Given the description of an element on the screen output the (x, y) to click on. 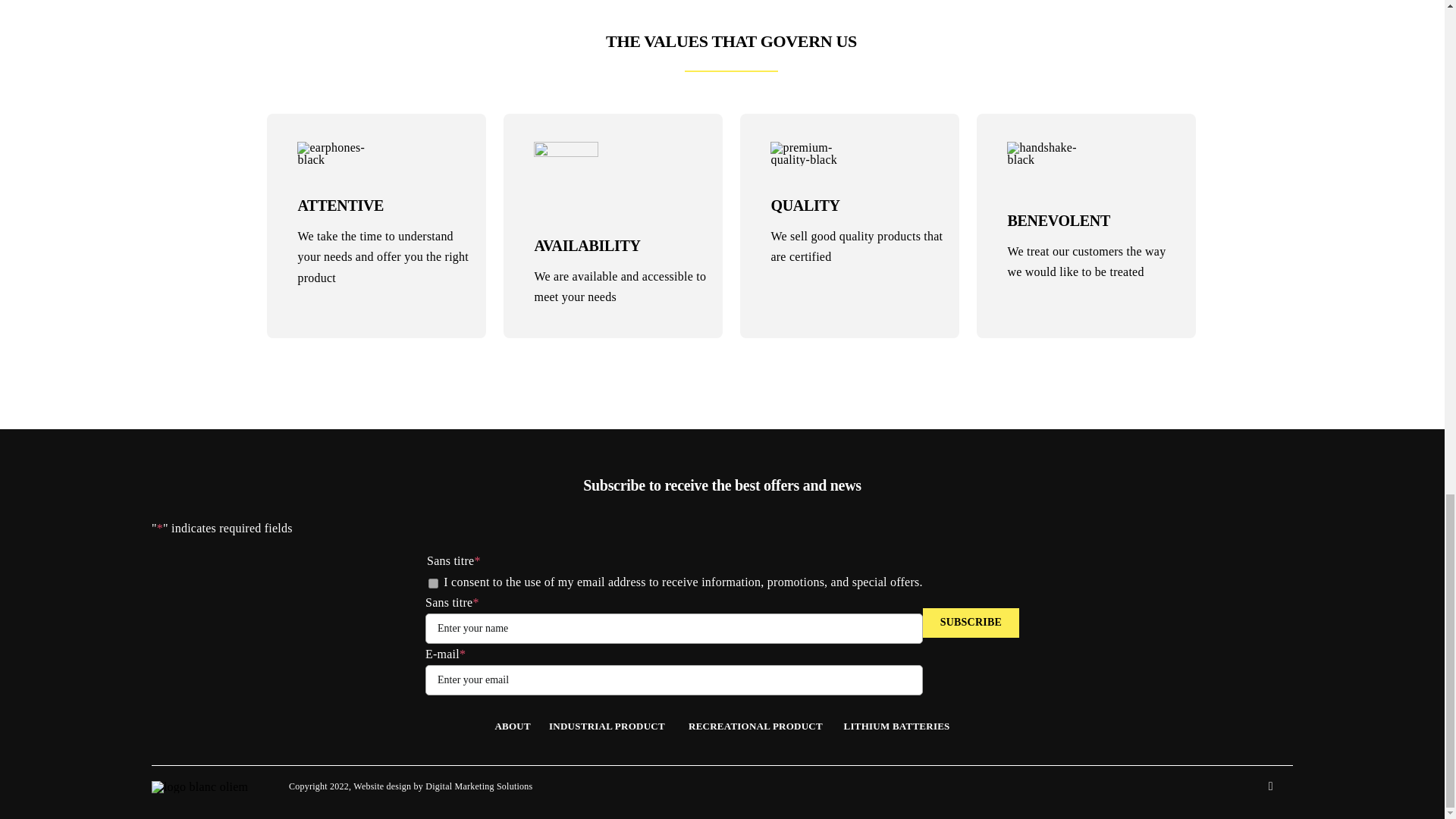
SUBSCRIBE (971, 623)
INDUSTRIAL PRODUCT (606, 726)
ABOUT        (521, 726)
008-premium-quality black (804, 153)
Layer 5 (566, 173)
SUBSCRIBE (971, 623)
009-handshake black (1052, 153)
RECREATIONAL PRODUCT  (756, 726)
LITHIUM BATTERIES (897, 726)
